Given the description of an element on the screen output the (x, y) to click on. 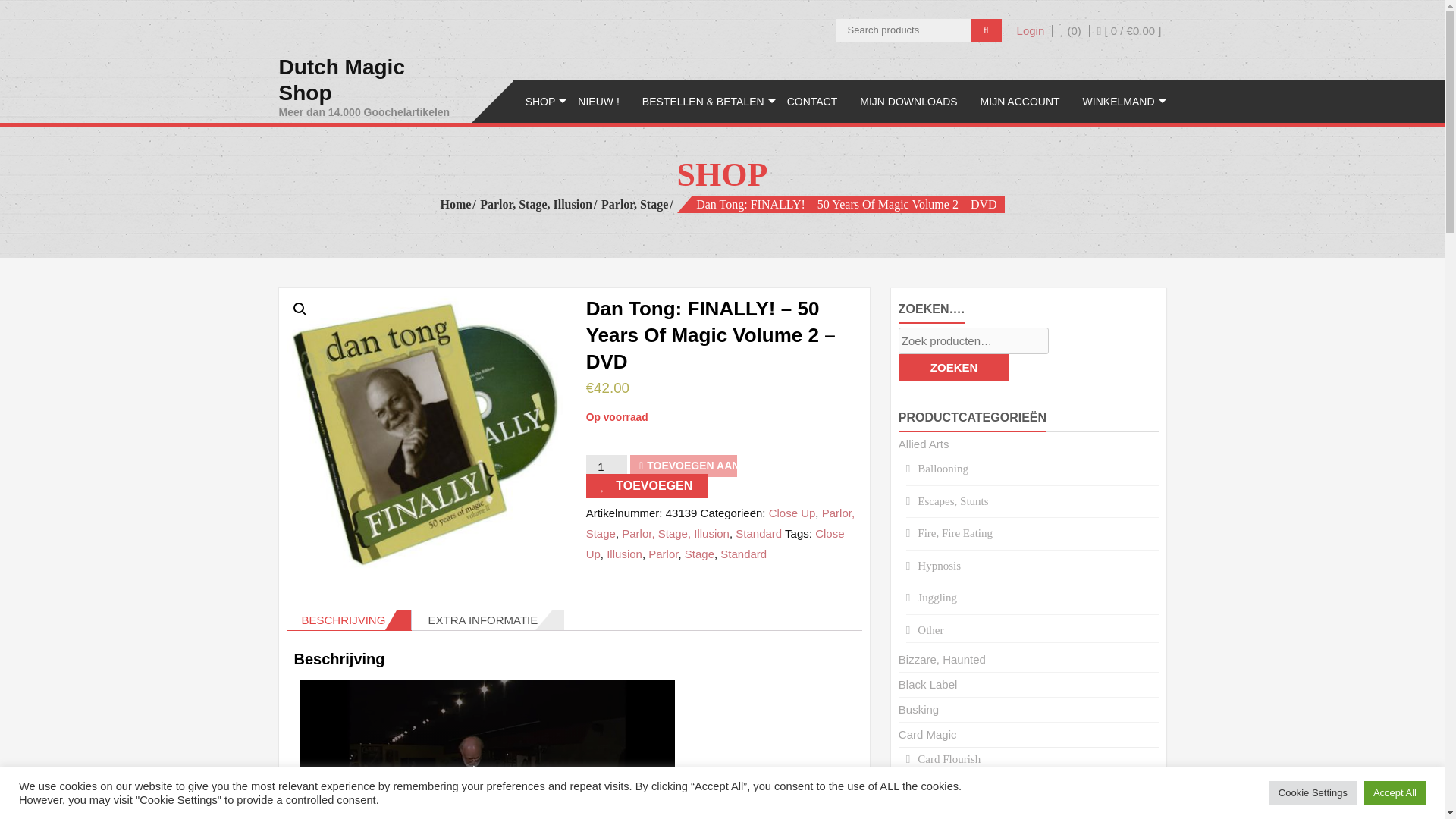
View your shopping cart (1129, 30)
SHOP (540, 101)
dvddt2dantongfin-full (424, 433)
Login (1030, 30)
Wishlist (368, 86)
1 (1070, 30)
